Given the description of an element on the screen output the (x, y) to click on. 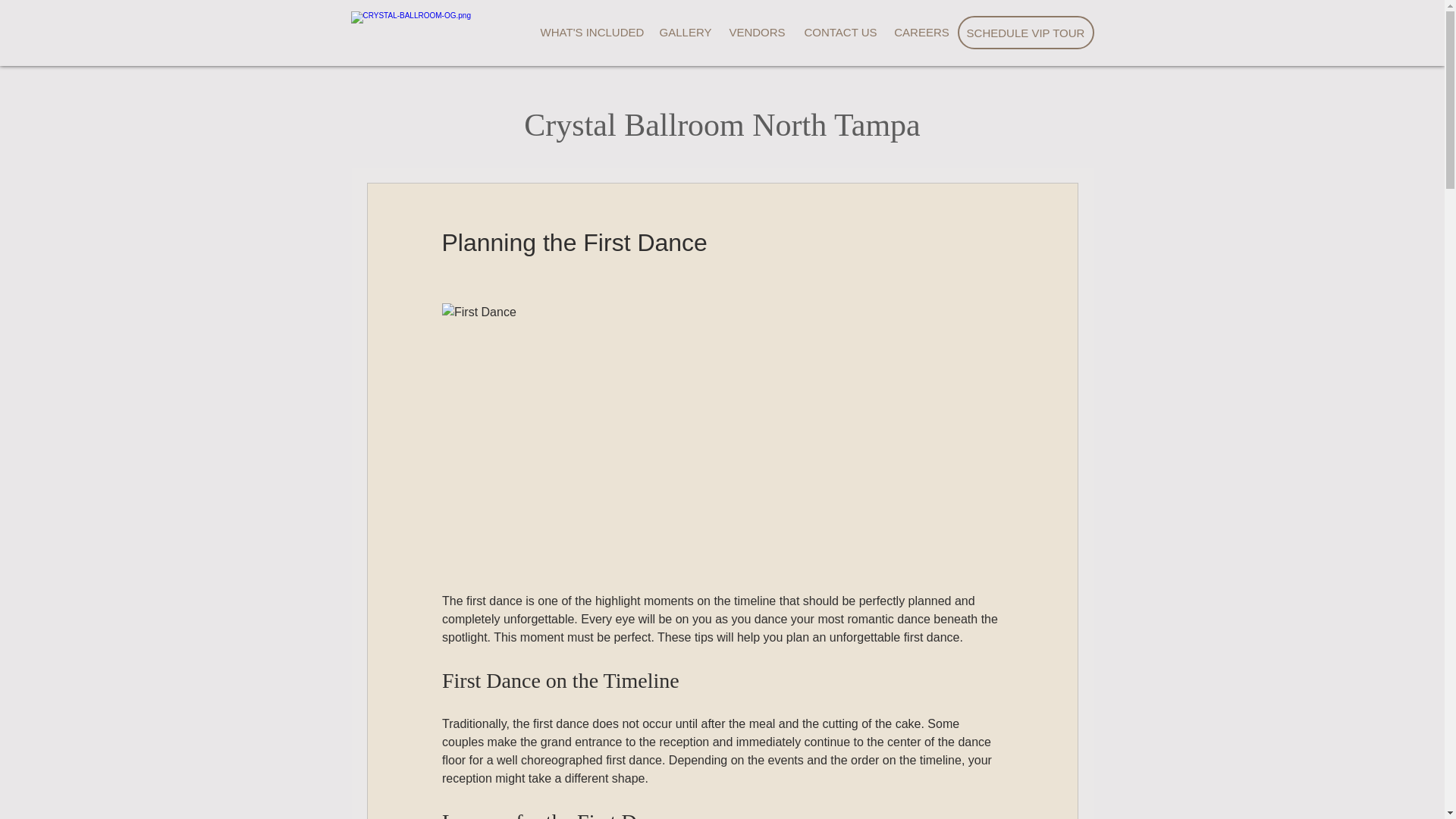
SCHEDULE VIP TOUR (1024, 32)
CONTACT US (839, 32)
WHAT'S INCLUDED (591, 32)
CAREERS (920, 32)
GALLERY (685, 32)
